Given the description of an element on the screen output the (x, y) to click on. 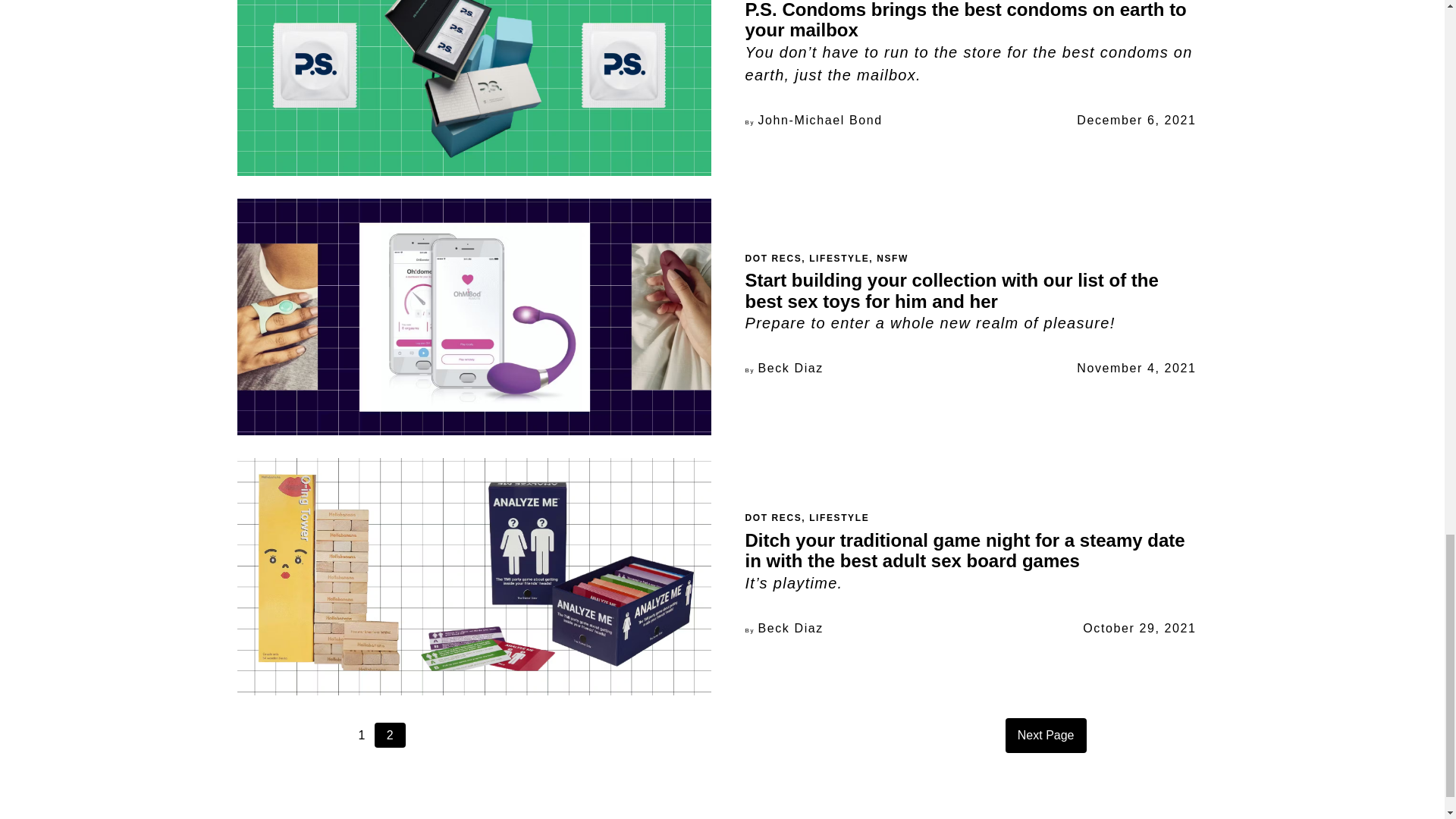
NSFW (892, 258)
DOT RECS (773, 258)
DOT RECS (773, 517)
LIFESTYLE (839, 258)
